Given the description of an element on the screen output the (x, y) to click on. 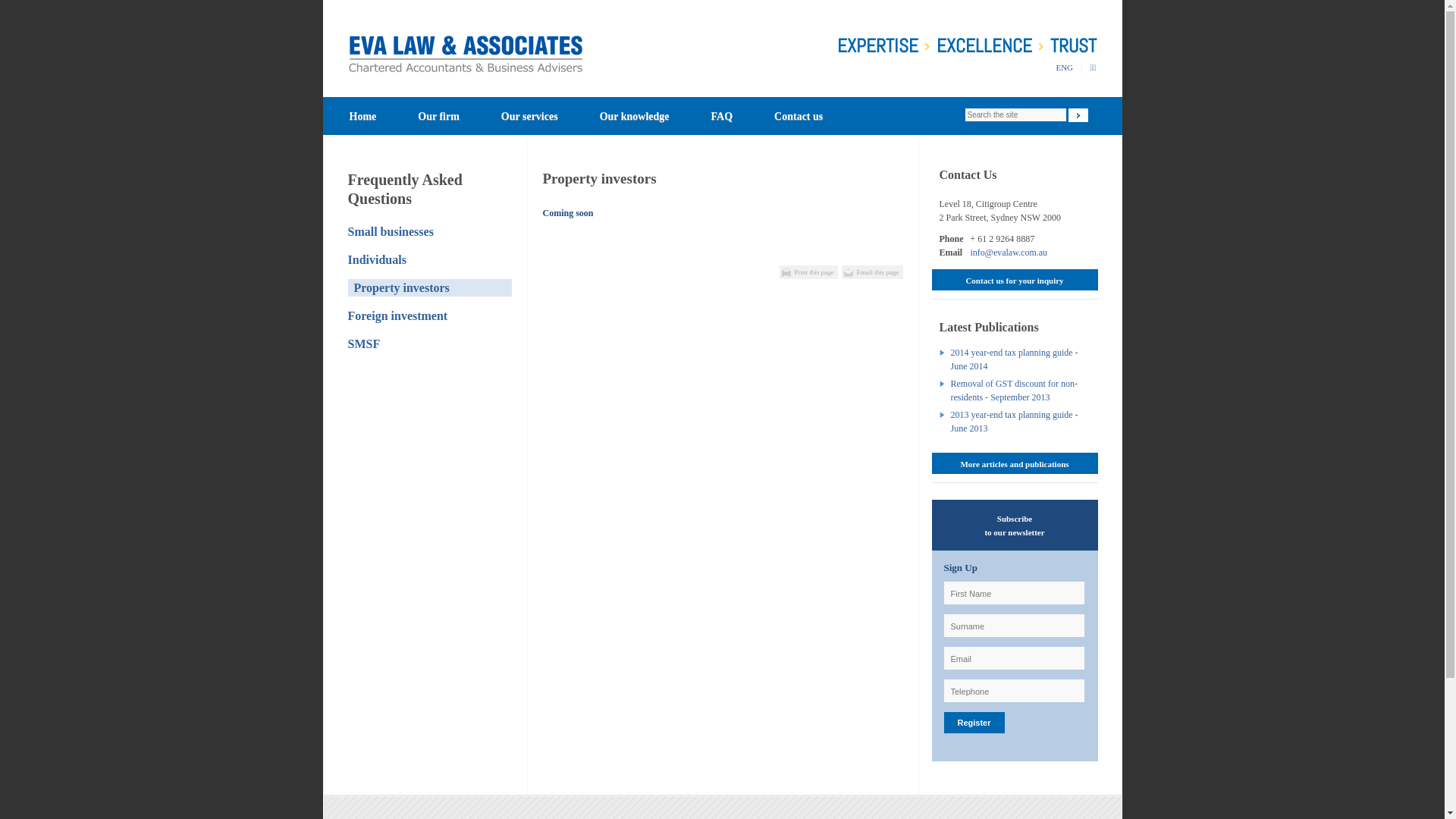
ENG Element type: text (1064, 67)
Individuals Element type: text (376, 259)
2014 year-end tax planning guide - June 2014 Element type: text (1020, 359)
Our services Element type: text (529, 115)
More articles and publications Element type: text (1014, 462)
Removal of GST discount for non-residents - September 2013 Element type: text (1020, 390)
Register Element type: text (973, 722)
Property investors Element type: text (429, 287)
Email this page Element type: text (872, 272)
Contact us for your inquiry Element type: text (1014, 279)
Our firm Element type: text (438, 115)
FAQ Element type: text (722, 115)
Home Element type: text (362, 115)
Print this page Element type: text (808, 272)
Foreign investment Element type: text (397, 315)
Contact us Element type: text (798, 115)
Small businesses Element type: text (390, 231)
SMSF Element type: text (363, 343)
Our knowledge Element type: text (634, 115)
info@evalaw.com.au Element type: text (1009, 252)
2013 year-end tax planning guide - June 2013 Element type: text (1020, 421)
